Given the description of an element on the screen output the (x, y) to click on. 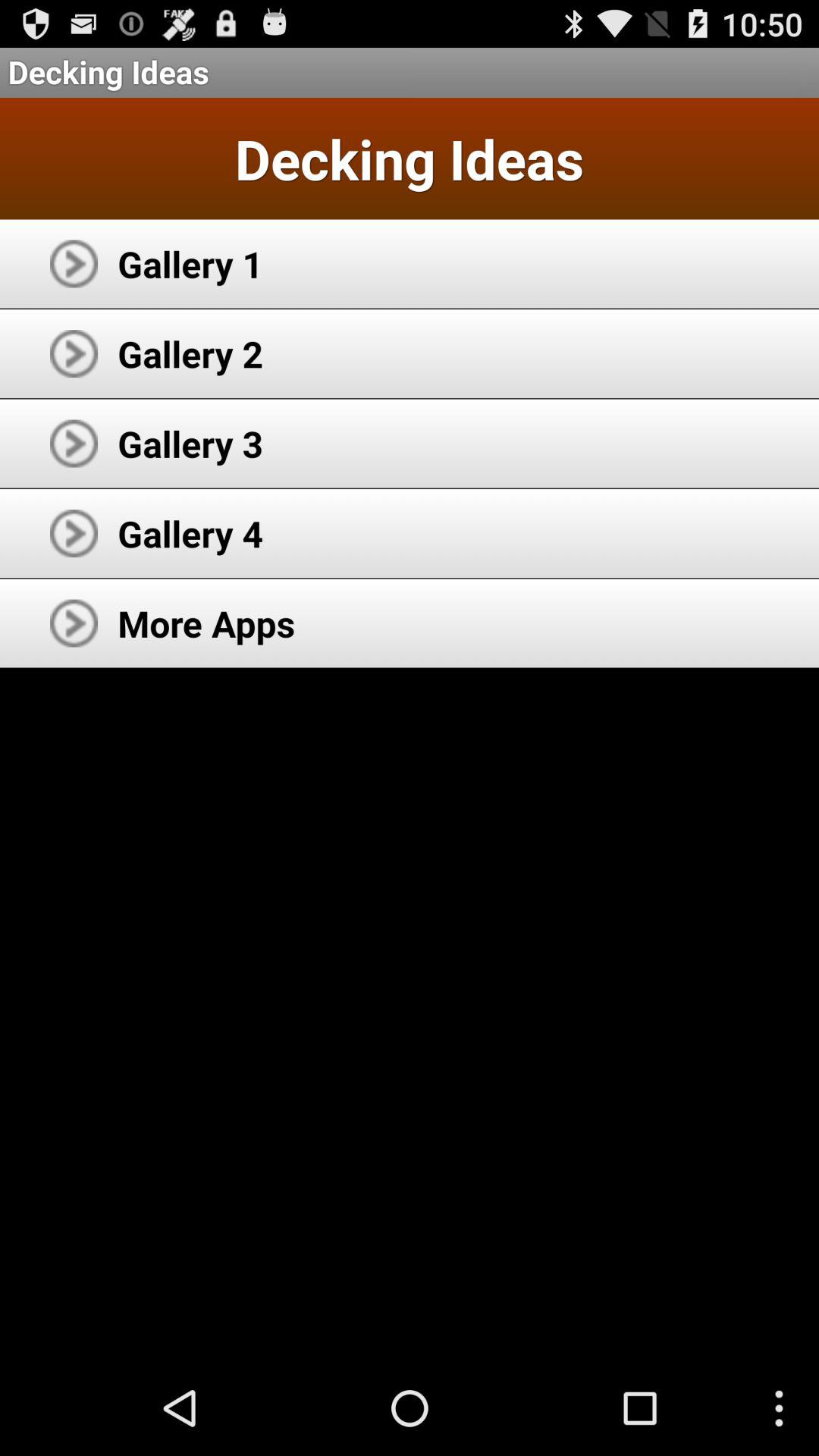
scroll to gallery 3 (190, 443)
